Given the description of an element on the screen output the (x, y) to click on. 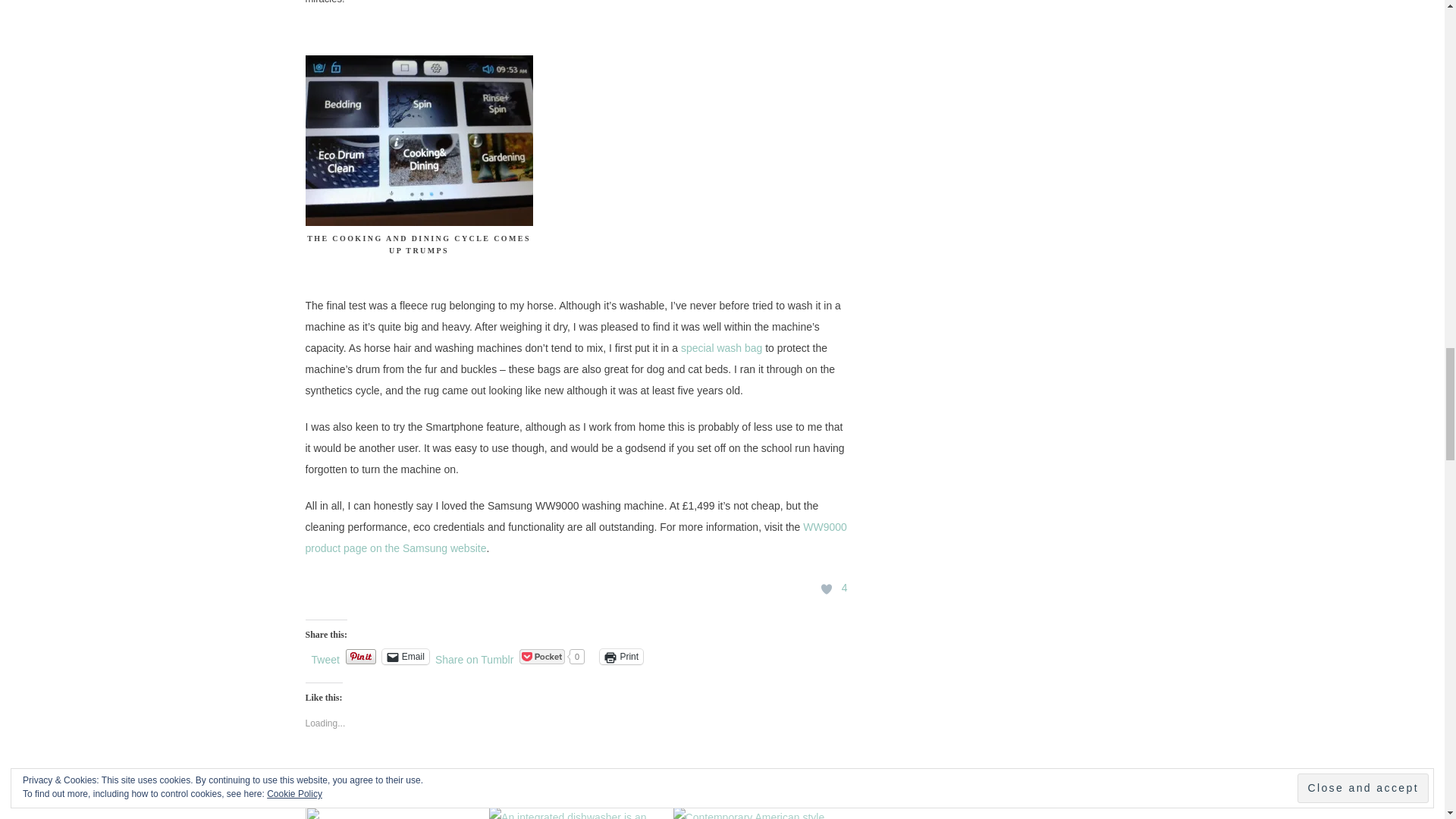
Share on Tumblr (474, 655)
Click to email a link to a friend (405, 656)
special wash bag (721, 347)
Email (405, 656)
Print (621, 656)
Share on Tumblr (474, 655)
4 (827, 589)
Click to print (621, 656)
Tweet (325, 655)
WW9000 product page on the Samsung website (574, 537)
